Given the description of an element on the screen output the (x, y) to click on. 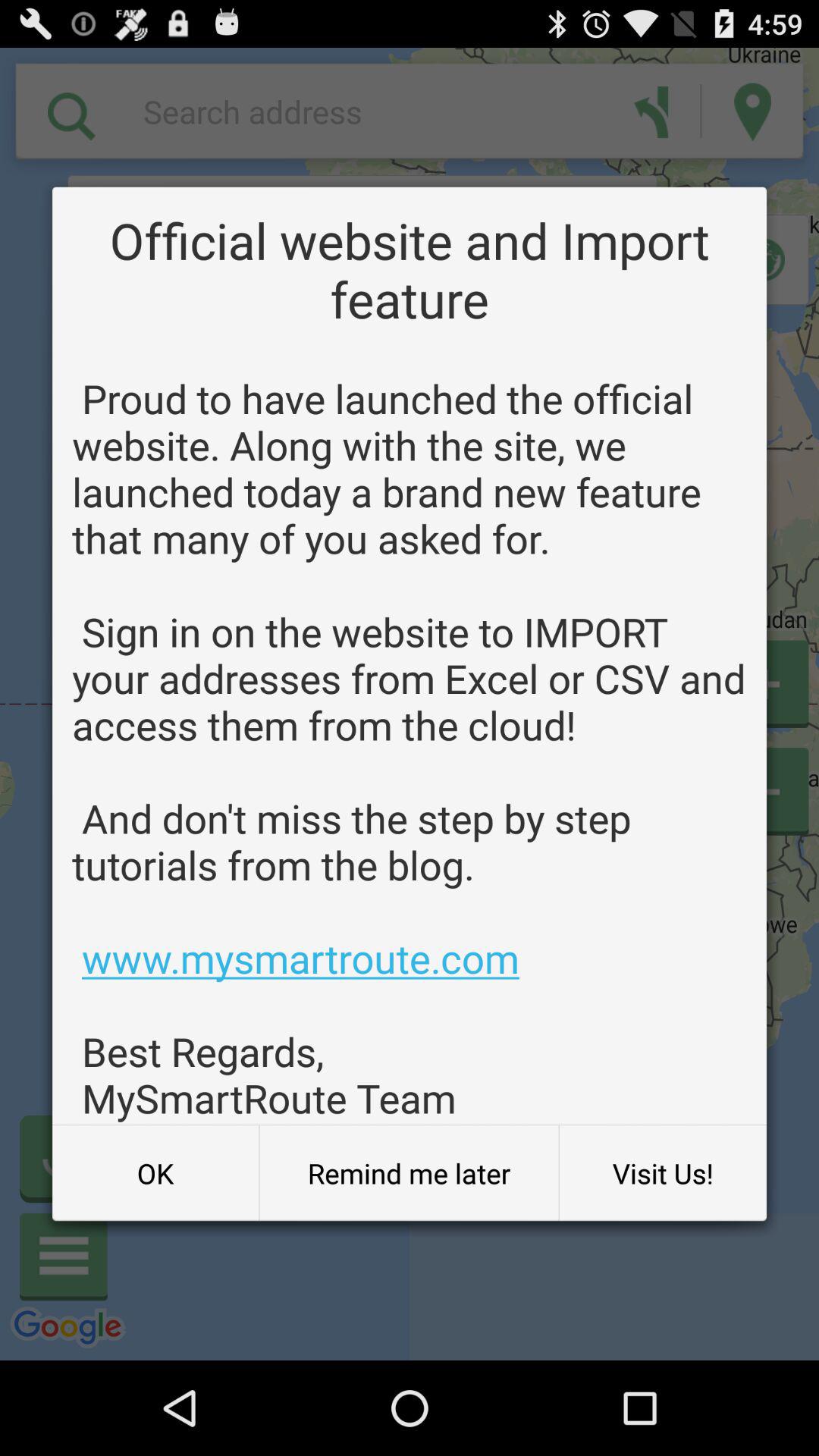
tap the item below official website and item (409, 747)
